Given the description of an element on the screen output the (x, y) to click on. 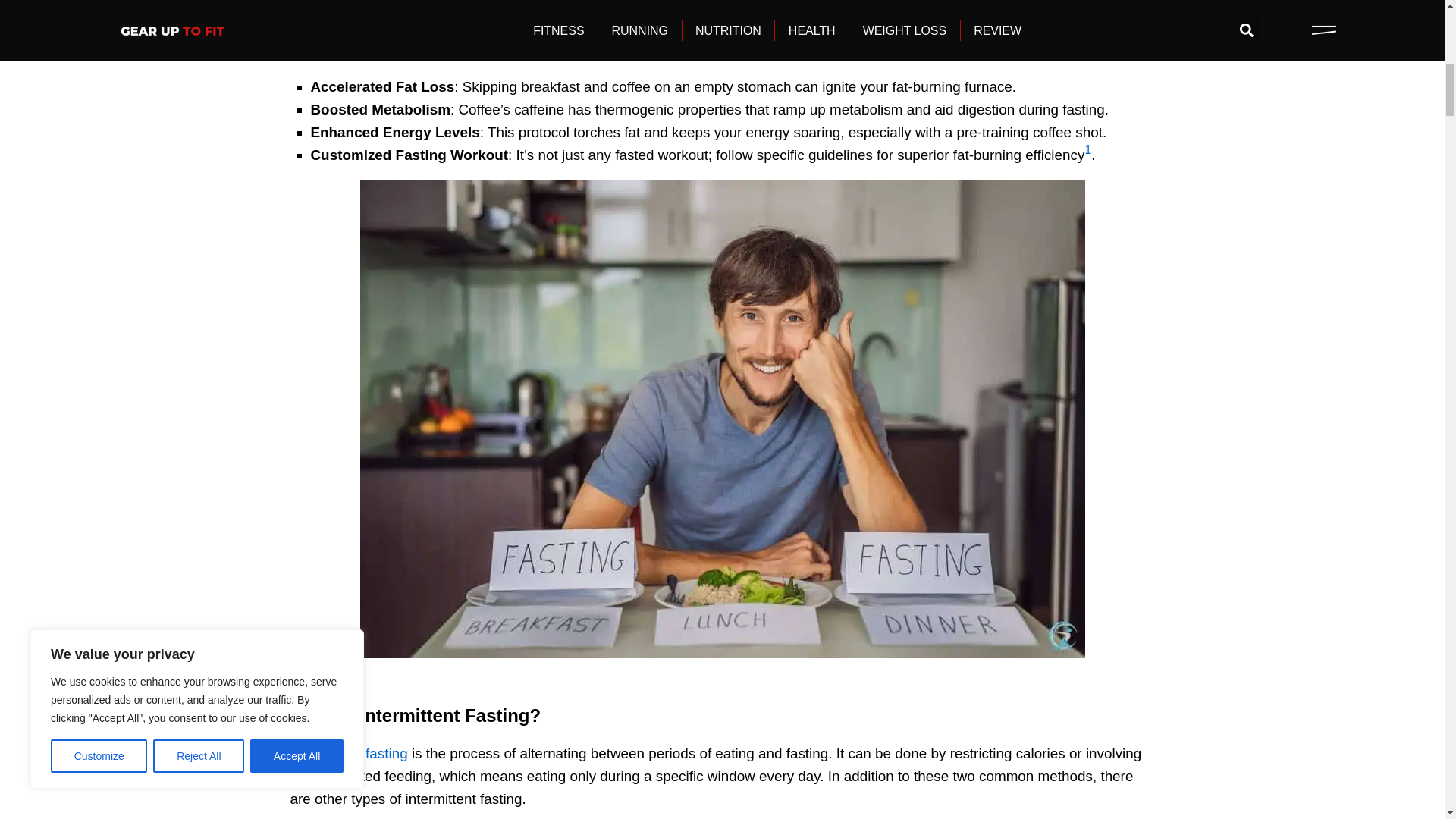
1 (1087, 154)
Intermittent fasting (348, 753)
